Given the description of an element on the screen output the (x, y) to click on. 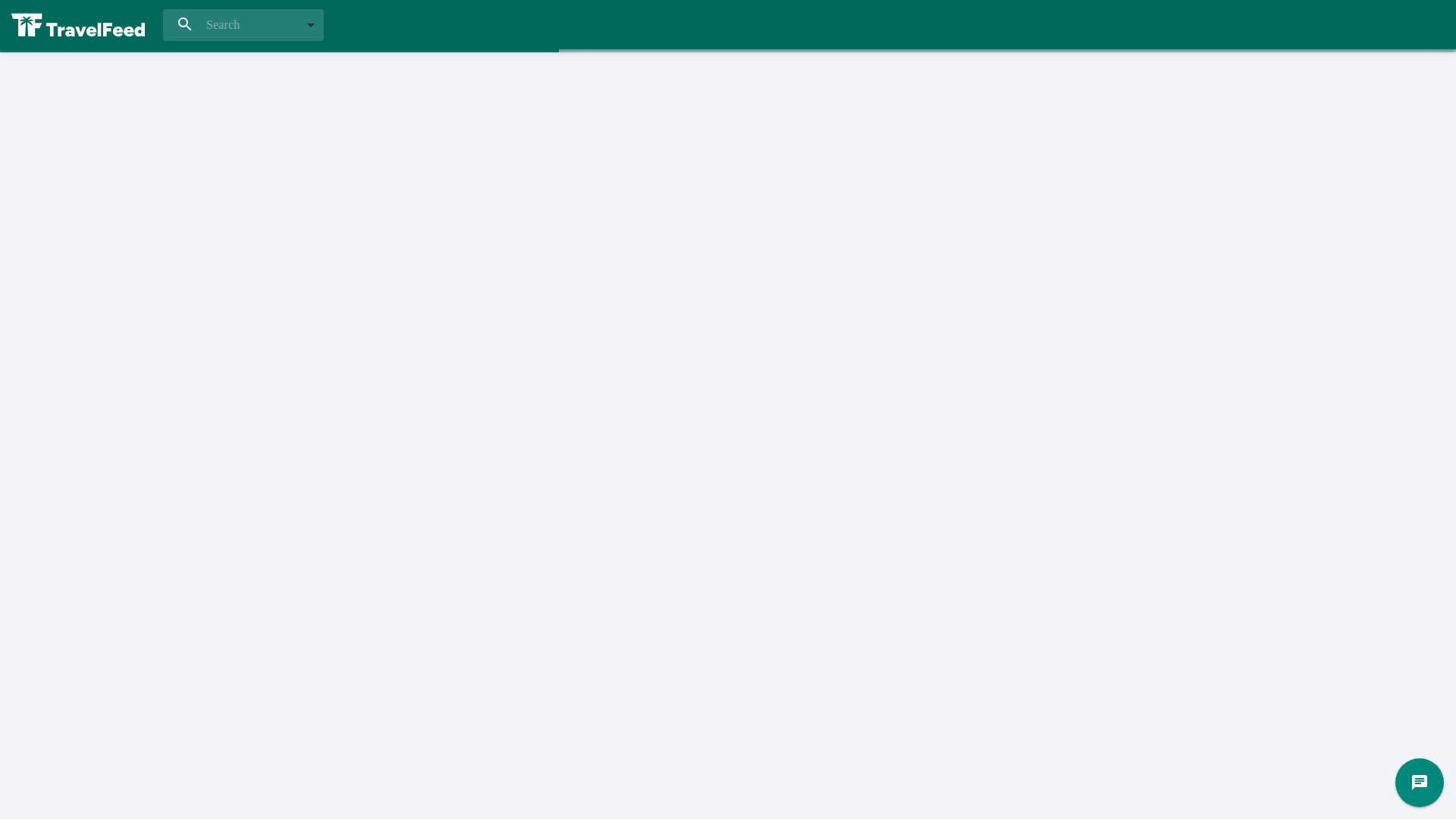
Open (310, 24)
